Given the description of an element on the screen output the (x, y) to click on. 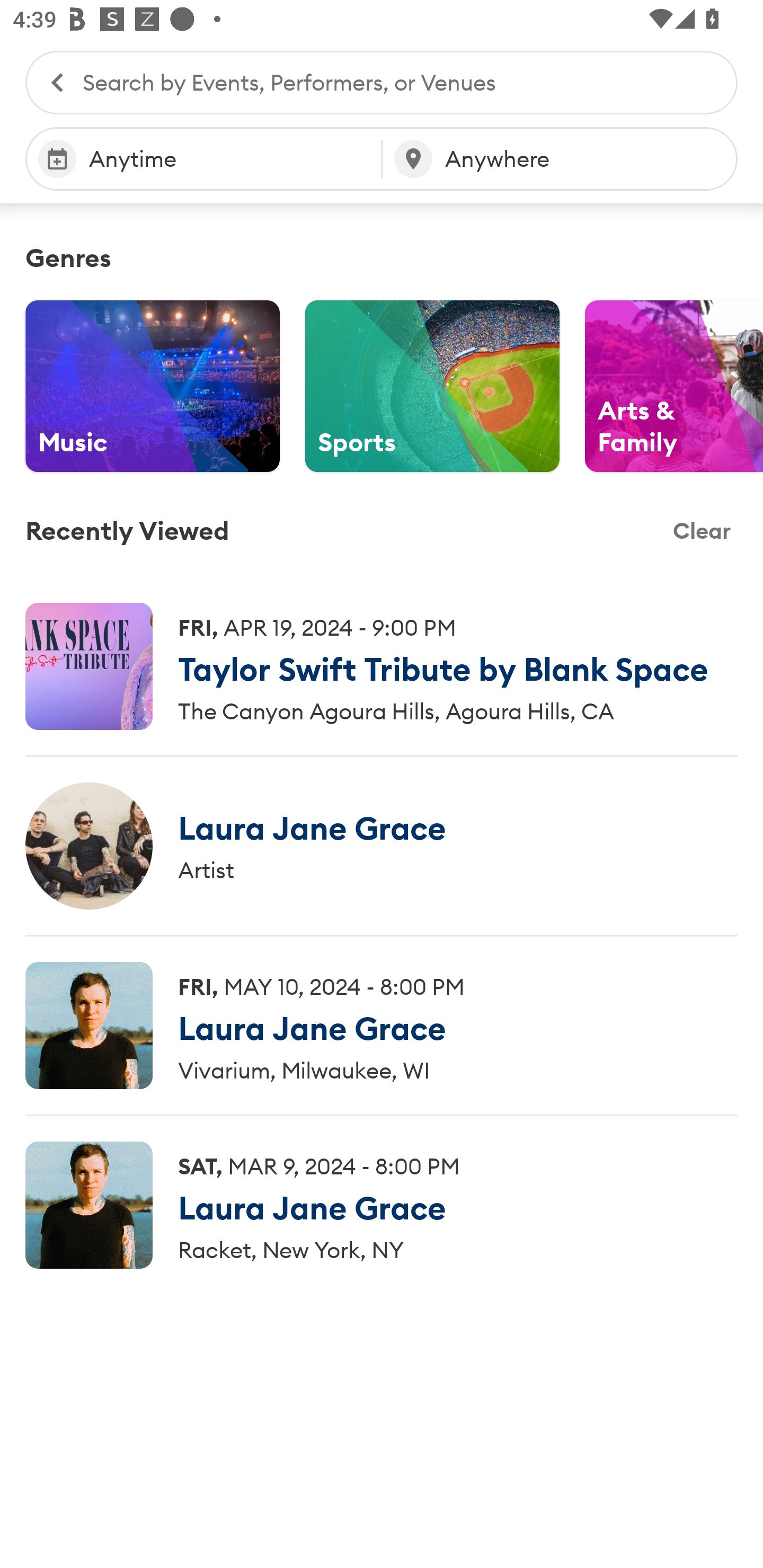
BackButton (47, 81)
Anytime (203, 158)
Anywhere (559, 158)
Music (152, 386)
Sports (432, 386)
Arts & Family (674, 386)
Clear (701, 531)
Laura Jane Grace Artist (381, 845)
